Given the description of an element on the screen output the (x, y) to click on. 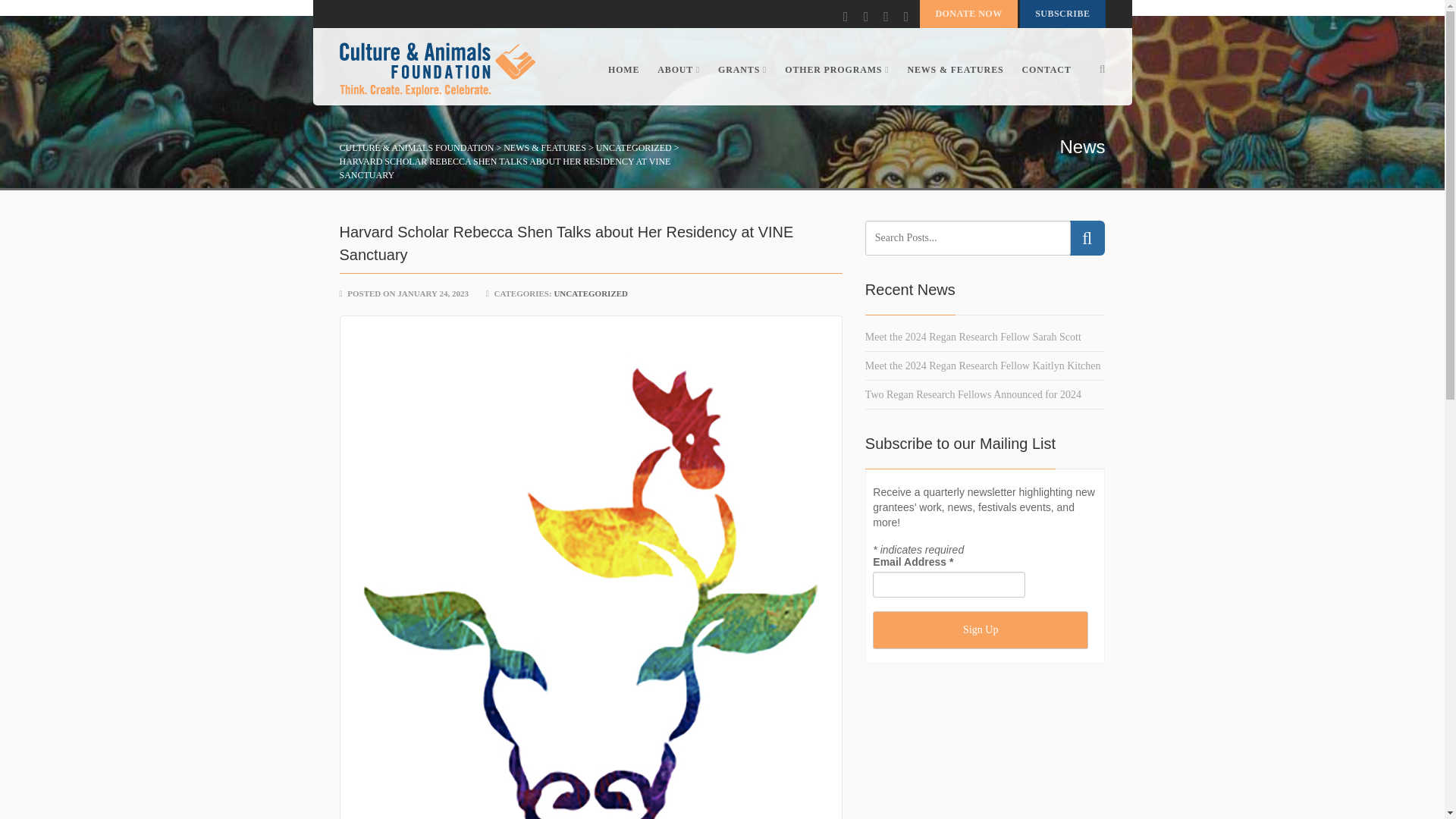
ABOUT (678, 69)
OTHER PROGRAMS (837, 69)
SUBSCRIBE (1062, 13)
UNCATEGORIZED (590, 293)
DONATE NOW (968, 13)
CONTACT (1042, 69)
Go to the Uncategorized category archives. (633, 147)
HOME (622, 69)
Sign Up (979, 629)
GRANTS (742, 69)
UNCATEGORIZED (633, 147)
